Given the description of an element on the screen output the (x, y) to click on. 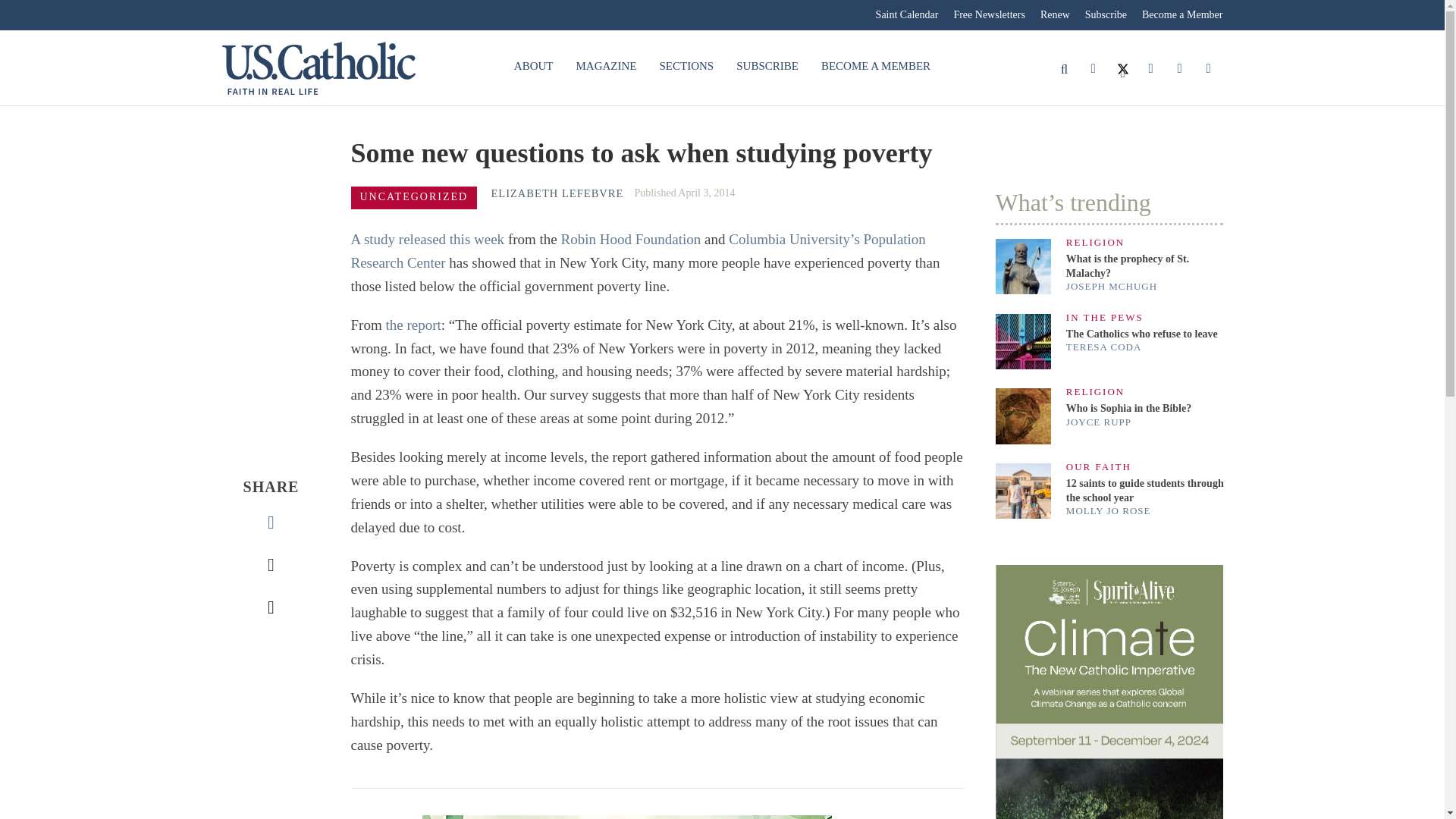
SECTIONS (686, 66)
SUBSCRIBE (767, 66)
Subscribe (1105, 15)
MAGAZINE (605, 66)
Renew (1054, 15)
Become a Member (1178, 15)
Saint Calendar (906, 15)
ABOUT (533, 66)
Free Newsletters (988, 15)
BECOME A MEMBER (875, 66)
